Given the description of an element on the screen output the (x, y) to click on. 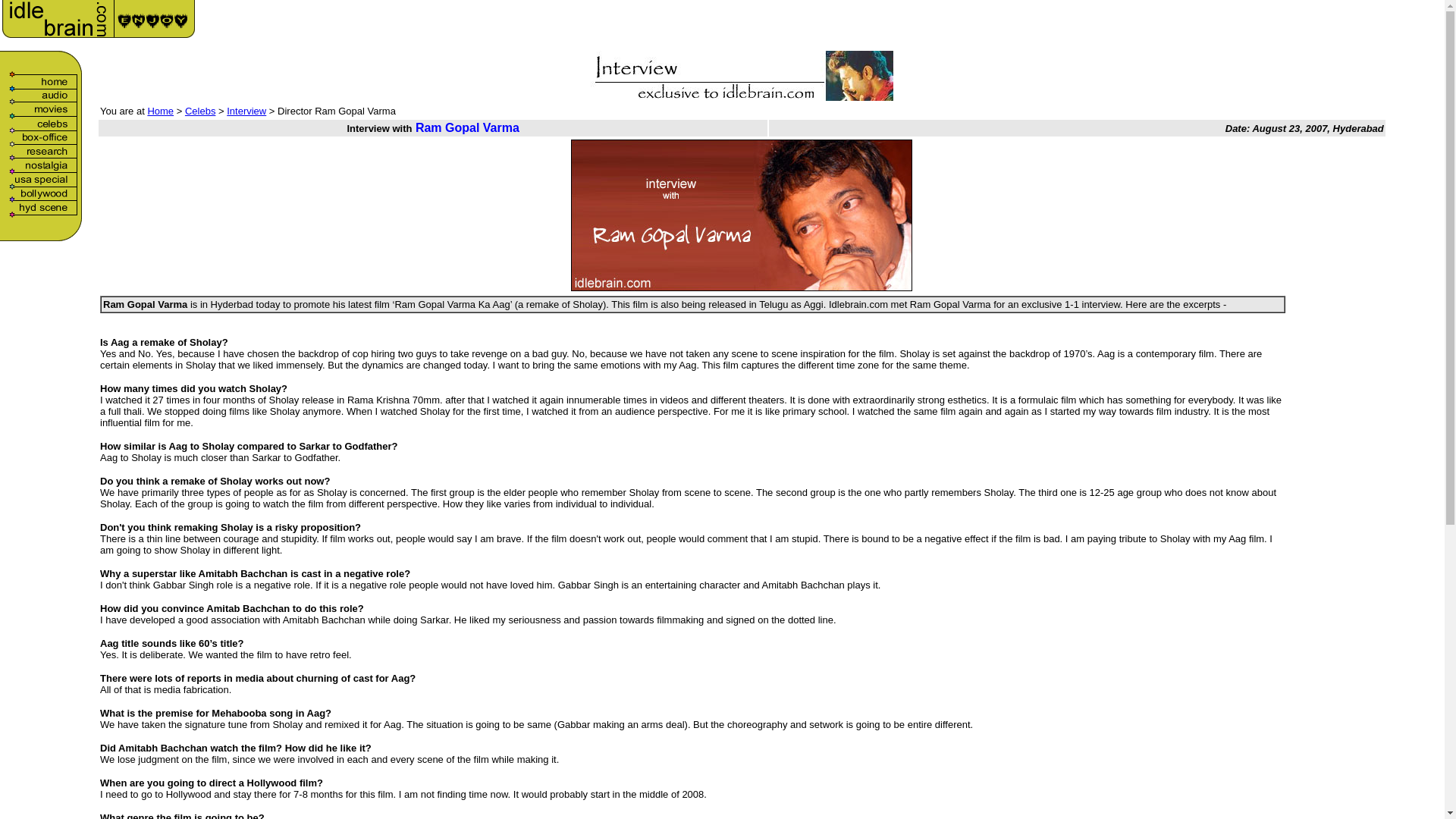
Advertisement (1209, 23)
Interview (246, 111)
Home (160, 111)
Celebs (199, 111)
